Given the description of an element on the screen output the (x, y) to click on. 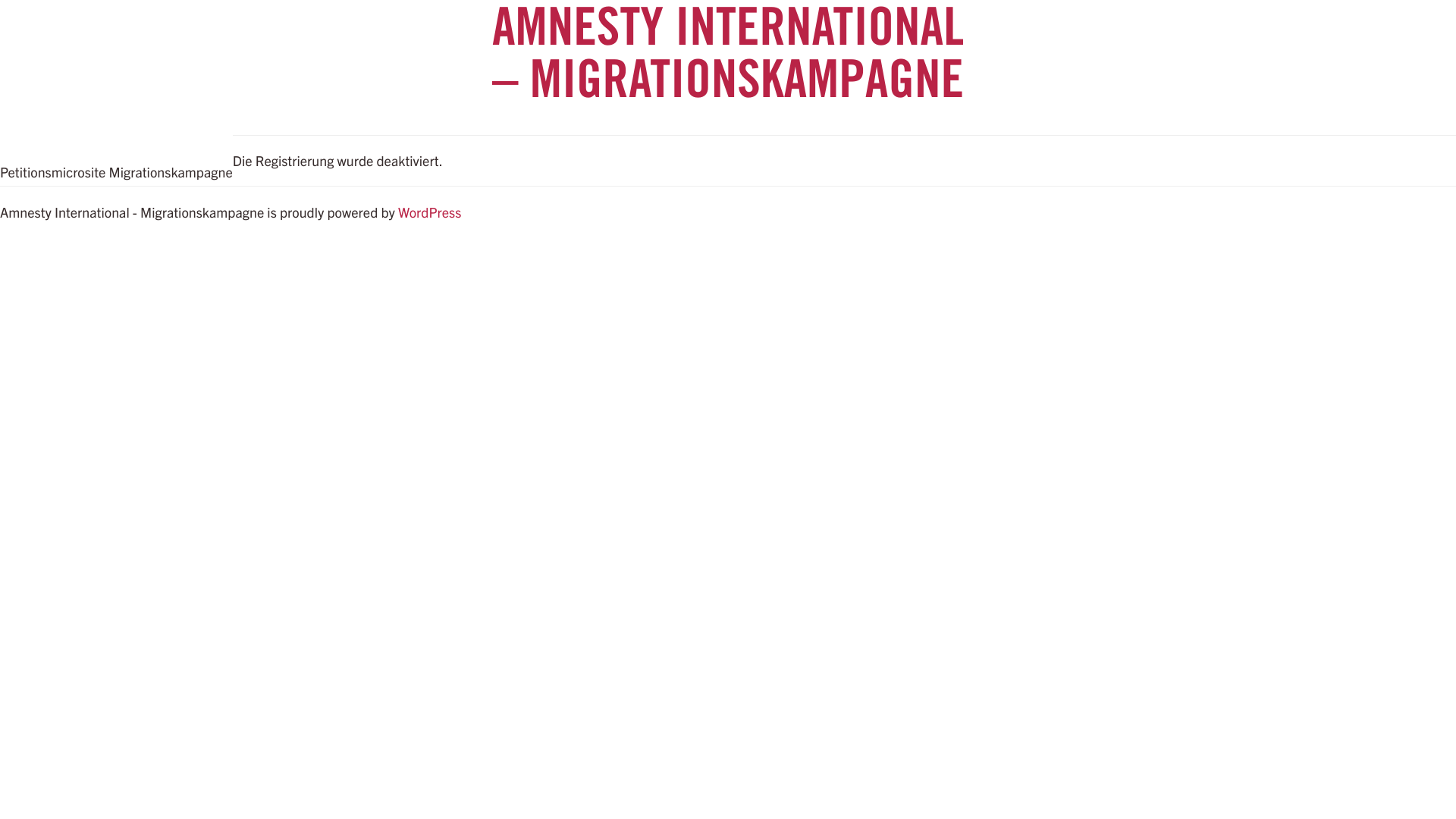
WordPress Element type: text (429, 211)
